Given the description of an element on the screen output the (x, y) to click on. 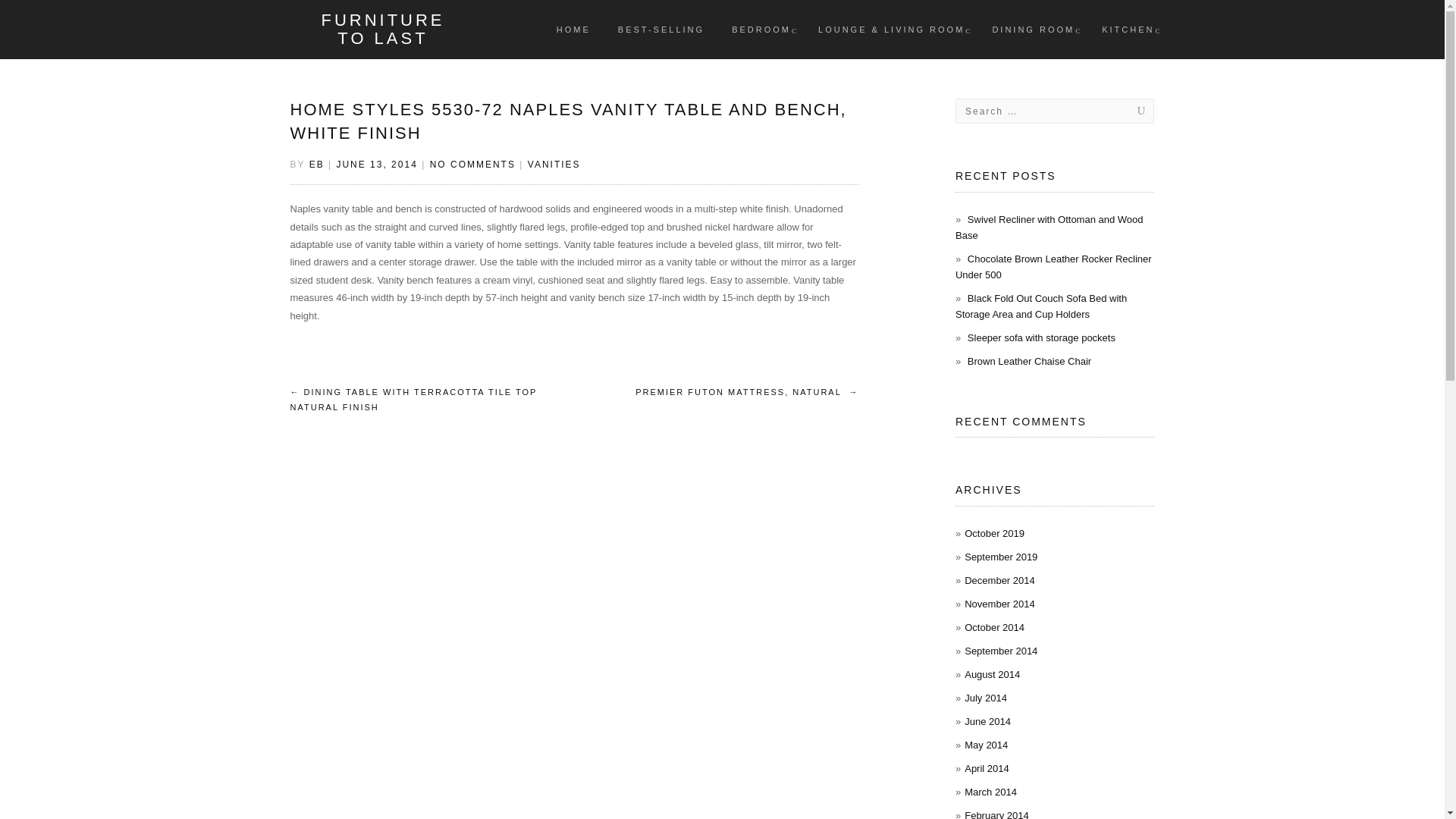
FURNITURE TO LAST (382, 29)
Sleeper sofa with storage pockets (1041, 337)
NO COMMENTS (472, 163)
Search (1125, 110)
VANITIES (553, 163)
Swivel Recliner with Ottoman and Wood Base (1048, 226)
DINING ROOM (1032, 29)
HOME (573, 29)
BEDROOM (761, 29)
